Given the description of an element on the screen output the (x, y) to click on. 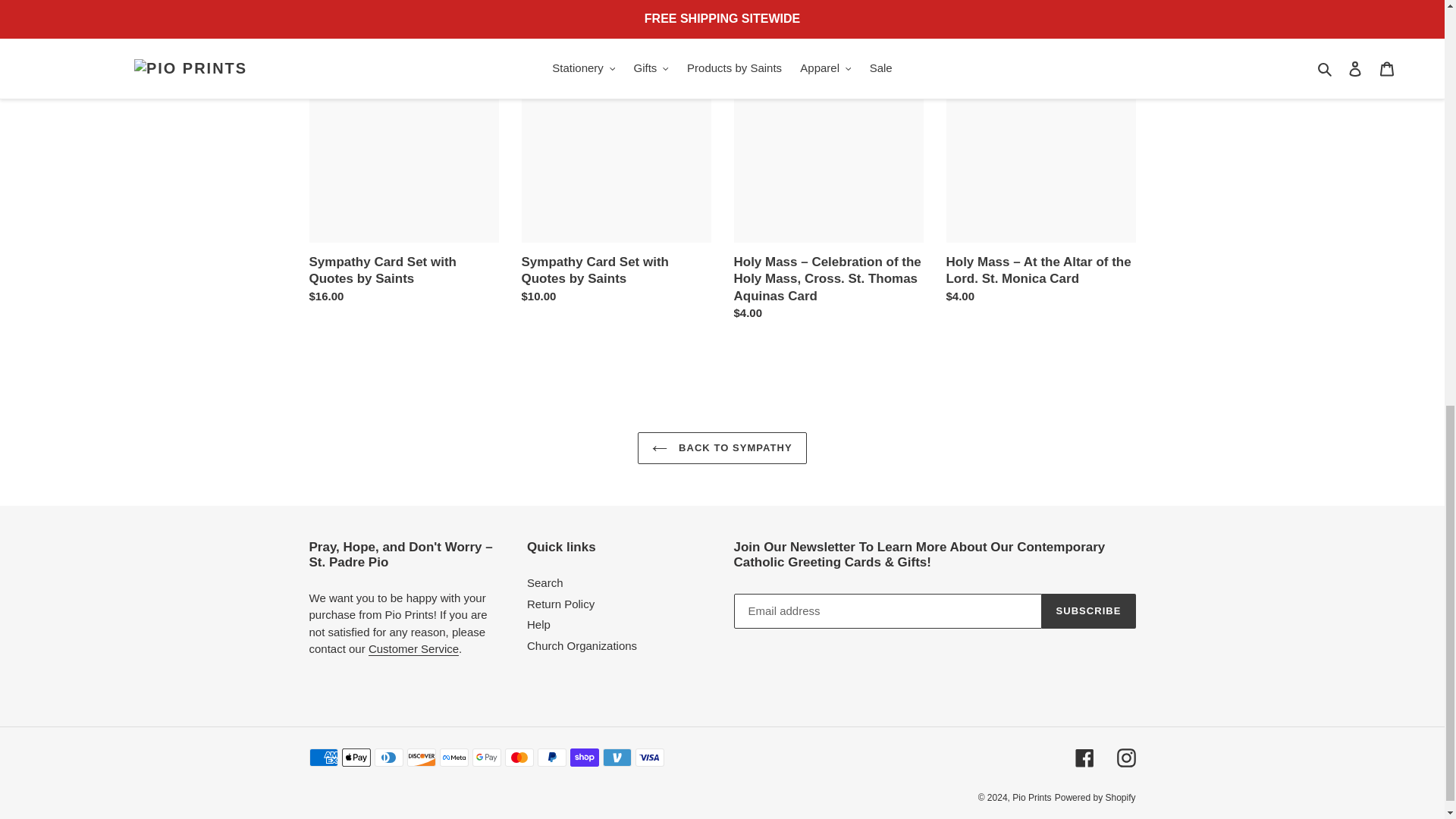
Discover (420, 757)
Shop Pay (584, 757)
Return Policy (413, 649)
PayPal (551, 757)
Venmo (616, 757)
Google Pay (485, 757)
Meta Pay (453, 757)
Diners Club (388, 757)
Mastercard (519, 757)
American Express (322, 757)
